Given the description of an element on the screen output the (x, y) to click on. 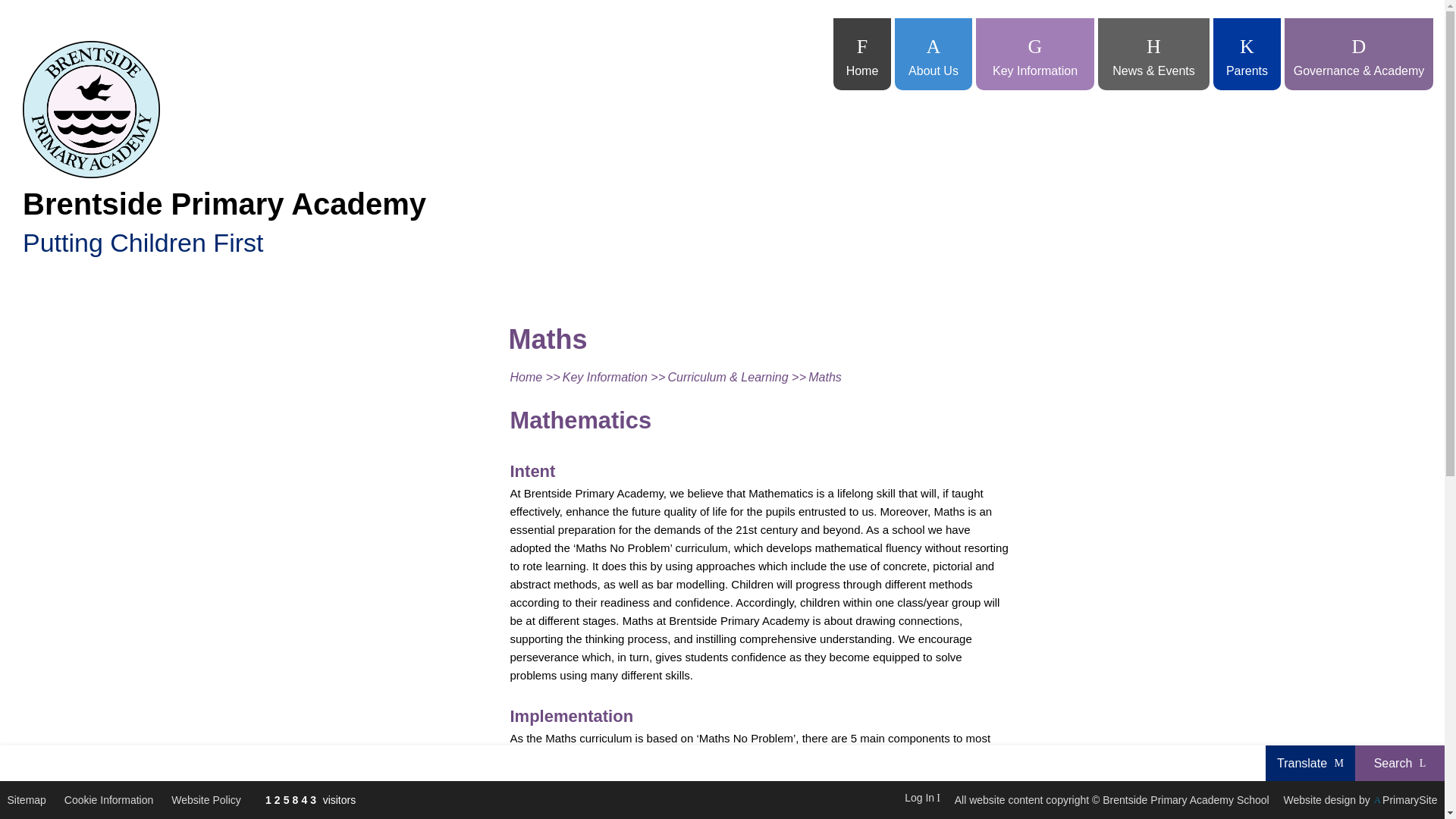
Key Information (1034, 54)
About Us (933, 54)
Home Page (91, 109)
